Given the description of an element on the screen output the (x, y) to click on. 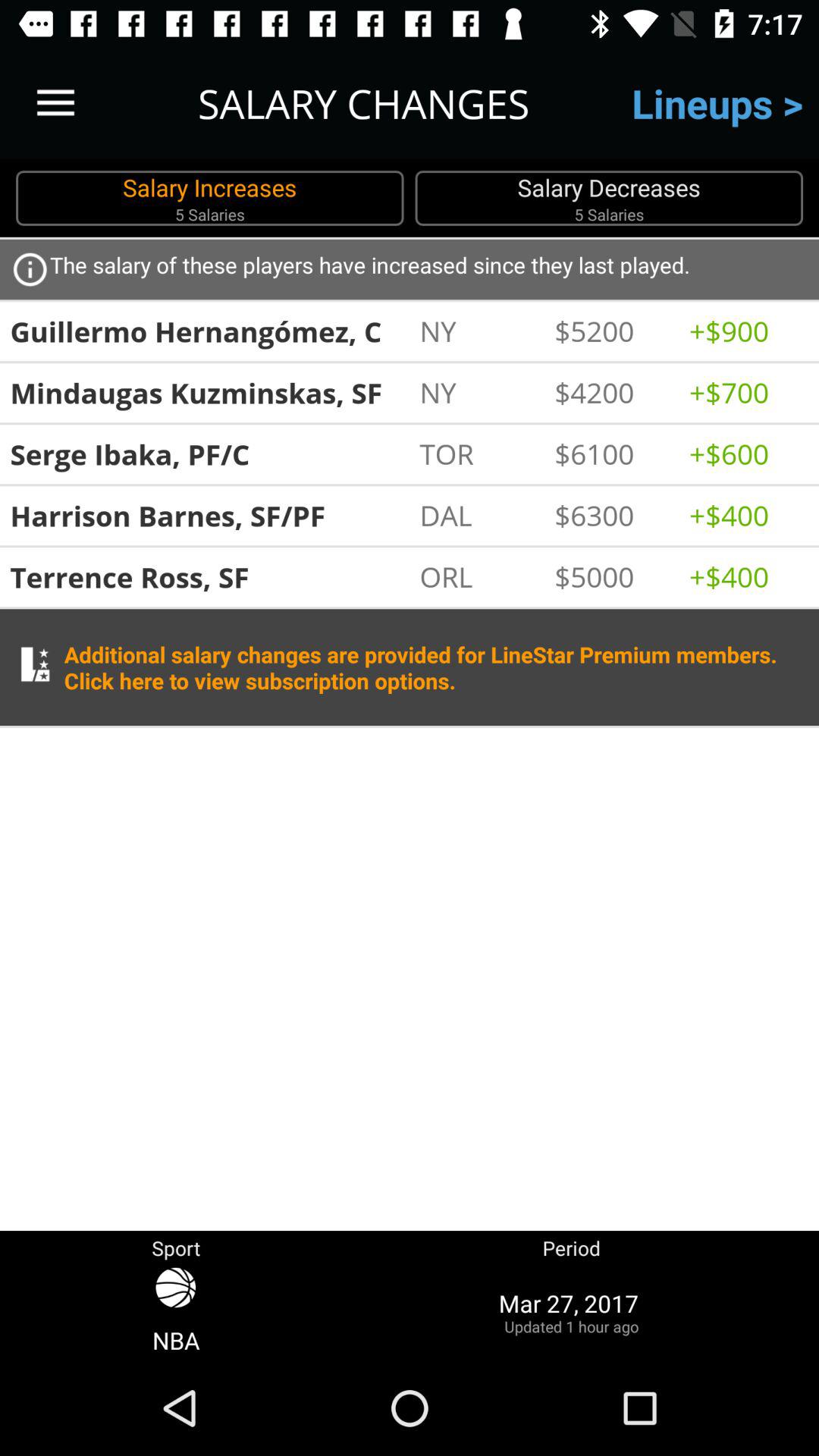
open icon next to tor item (613, 453)
